Given the description of an element on the screen output the (x, y) to click on. 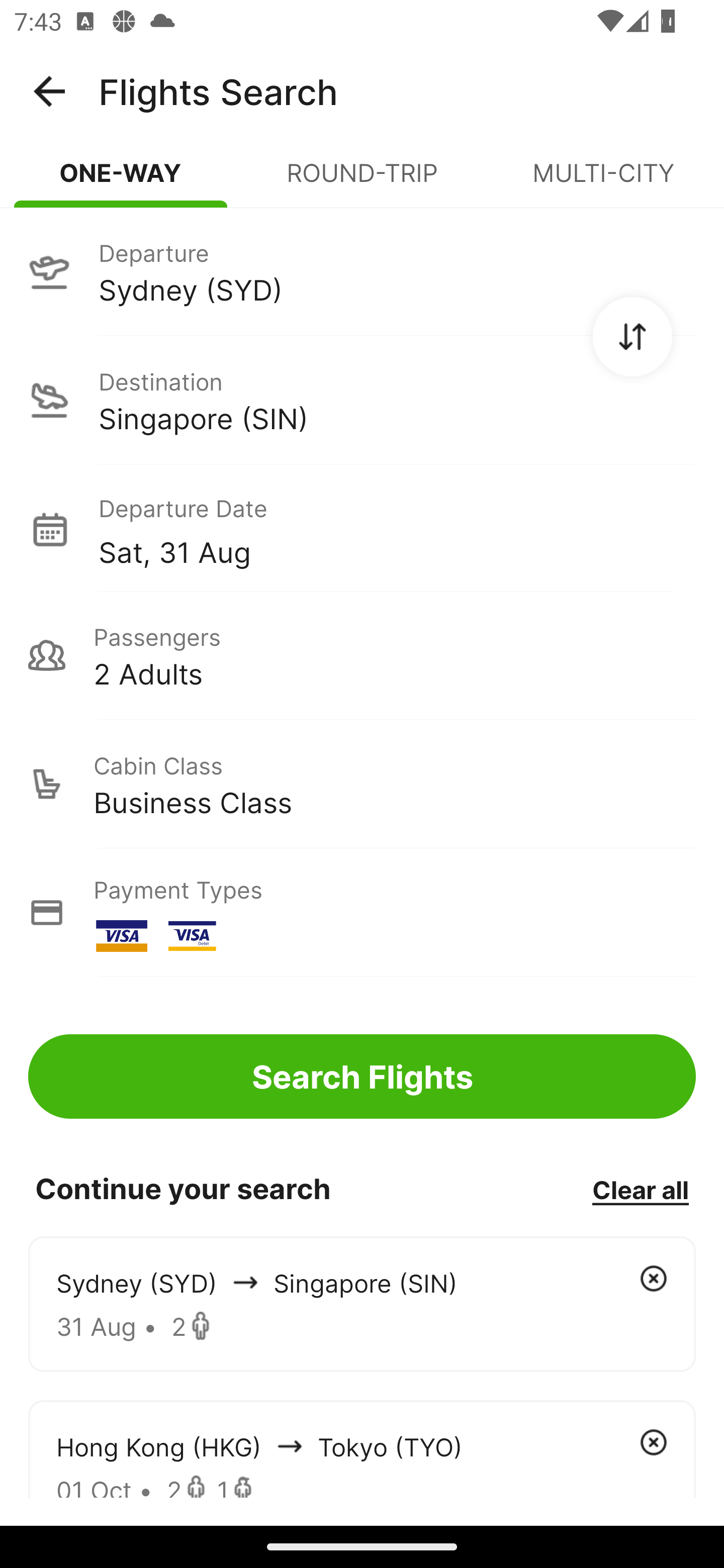
ONE-WAY (120, 180)
ROUND-TRIP (361, 180)
MULTI-CITY (603, 180)
Departure Sydney (SYD) (362, 270)
Destination Singapore (SIN) (362, 400)
Departure Date Sat, 31 Aug (396, 528)
Passengers 2 Adults (362, 655)
Cabin Class Business Class (362, 783)
Payment Types (362, 912)
Search Flights (361, 1075)
Clear all (640, 1189)
